Given the description of an element on the screen output the (x, y) to click on. 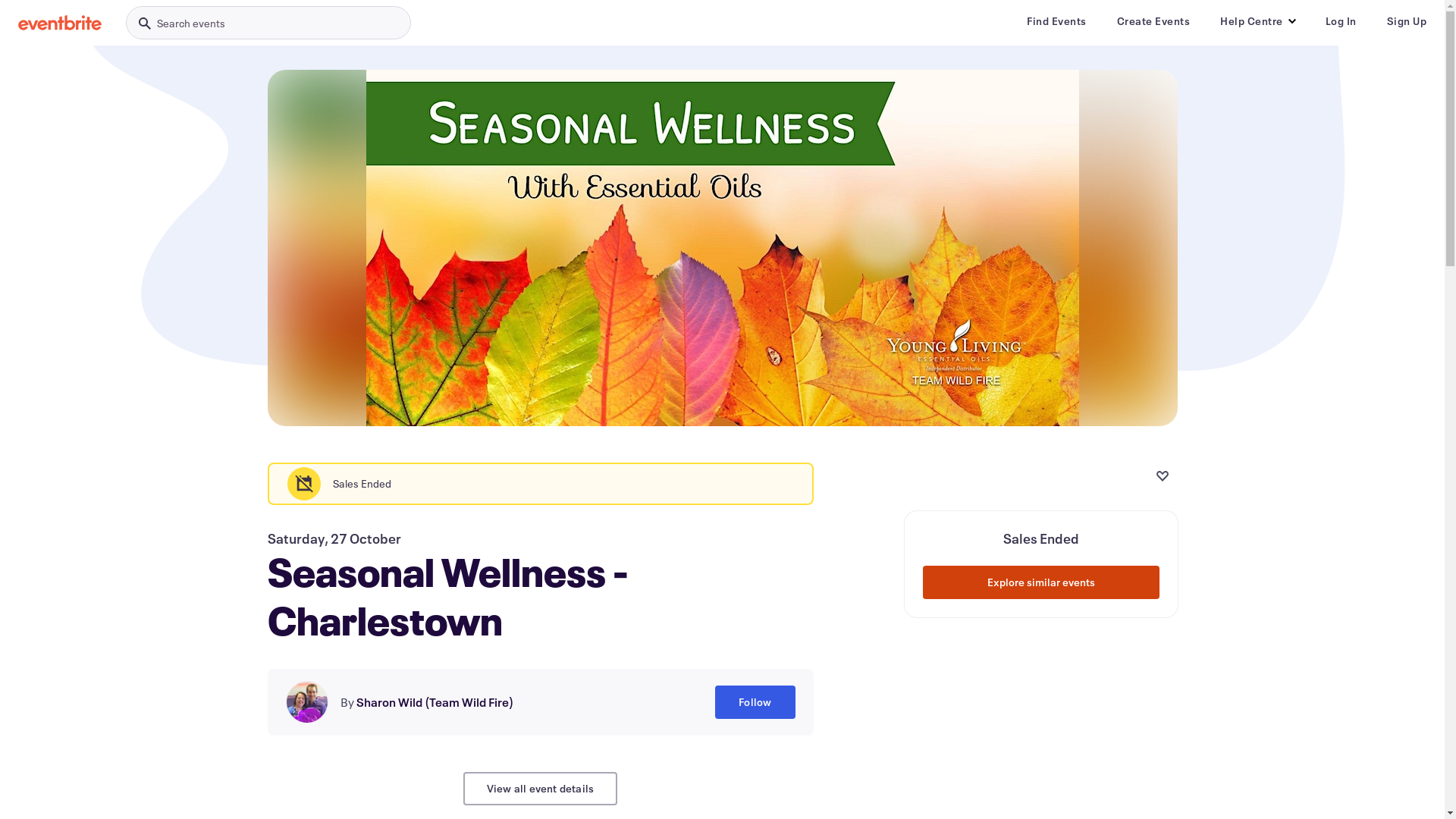
Explore similar events Element type: text (1040, 582)
Search events Element type: text (268, 22)
Find Events Element type: text (1056, 21)
Follow Element type: text (754, 701)
Log In Element type: text (1340, 21)
Create Events Element type: text (1152, 21)
View all event details Element type: text (540, 788)
Sign Up Element type: text (1406, 21)
Eventbrite Element type: hover (59, 22)
